Given the description of an element on the screen output the (x, y) to click on. 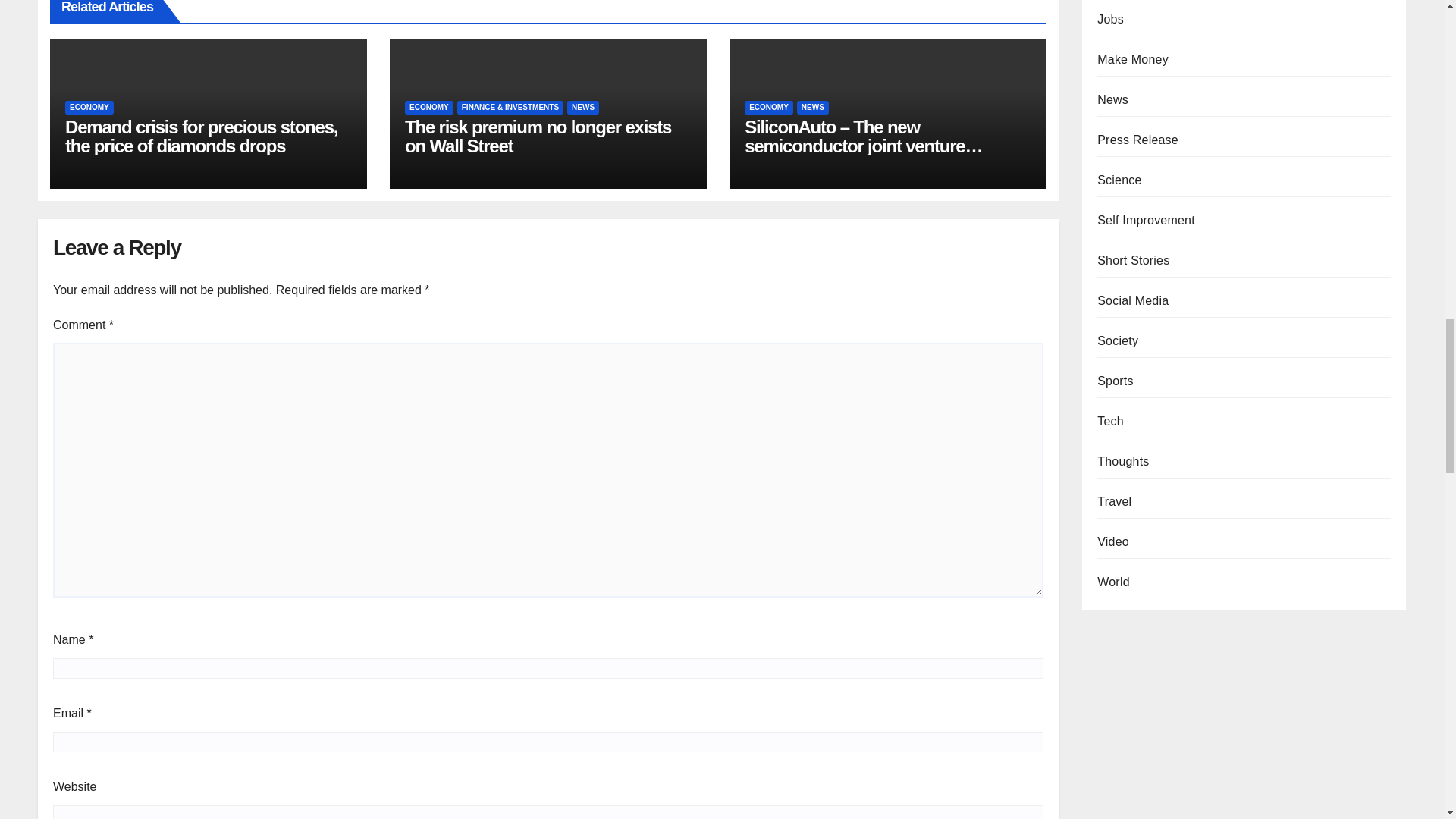
ECONOMY (89, 107)
ECONOMY (428, 107)
